Given the description of an element on the screen output the (x, y) to click on. 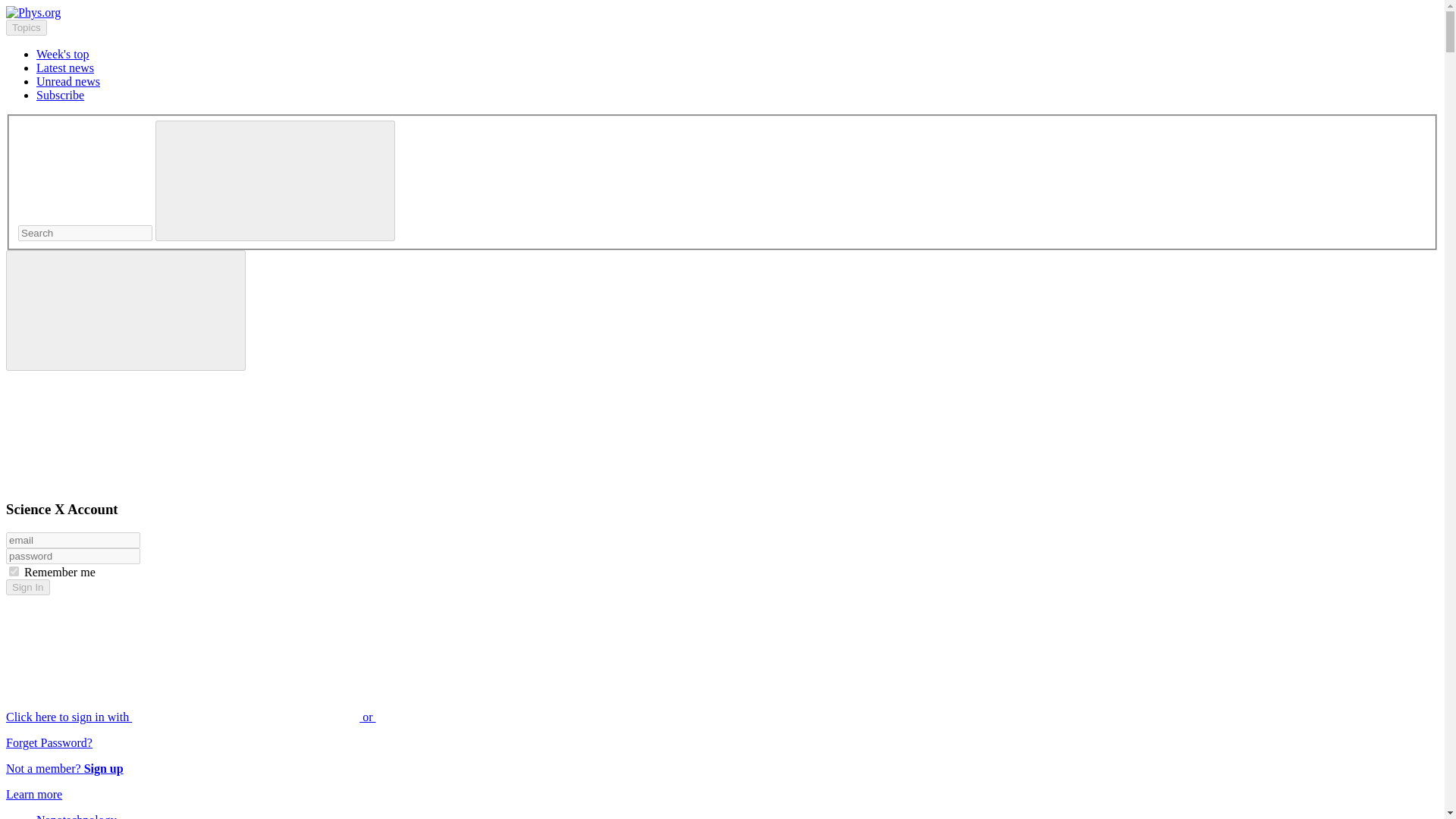
Learn more (33, 793)
on (13, 571)
Click here to sign in with or (304, 716)
Topics (25, 27)
Sign In (27, 587)
Subscribe (60, 94)
Latest news (65, 67)
Not a member? Sign up (64, 768)
Nanotechnology (76, 816)
Forget Password? (49, 742)
Unread news (68, 81)
Week's top (62, 53)
